Given the description of an element on the screen output the (x, y) to click on. 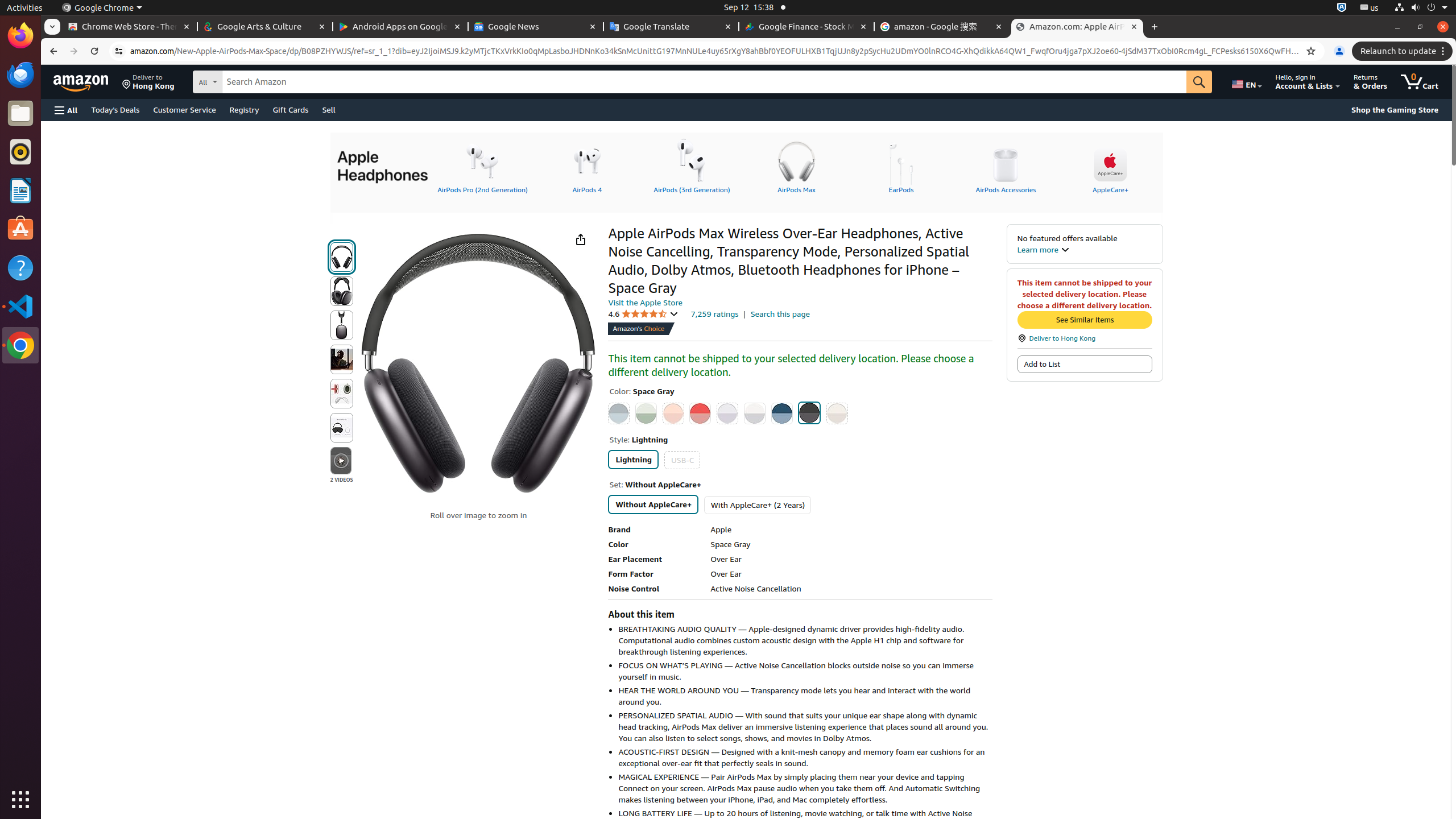
Google Chrome Element type: menu (101, 7)
Choose a language for shopping. Element type: link (1246, 81)
Silver Element type: push-button (753, 412)
Hello, sign in Account & Lists Element type: link (1307, 81)
Android Apps on Google Play - Memory usage - 60.6 MB Element type: page-tab (400, 26)
